Given the description of an element on the screen output the (x, y) to click on. 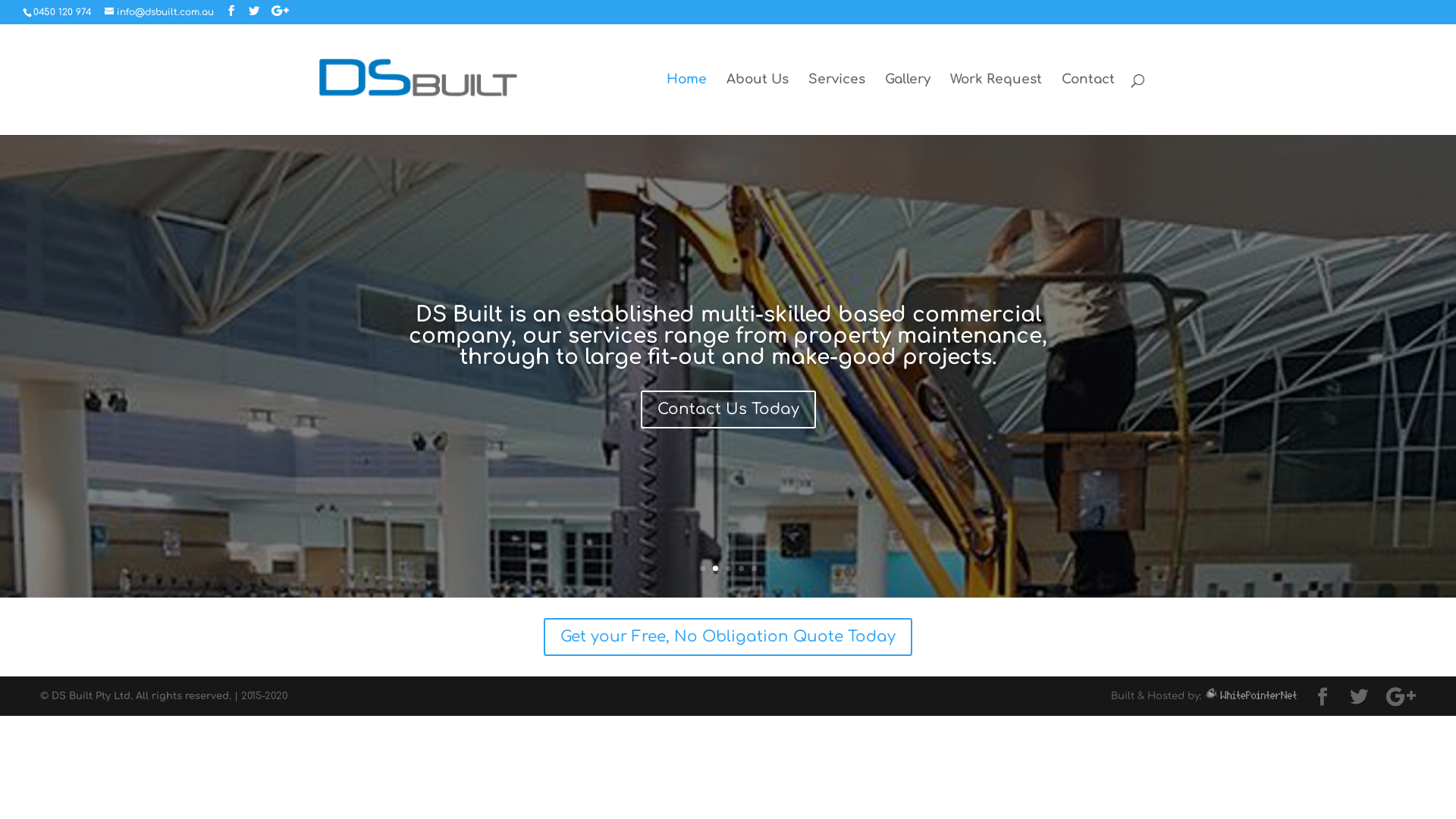
DS Built Pty Ltd. All rights reserved. Element type: text (141, 695)
Work Request Element type: text (995, 104)
Gallery Element type: text (906, 104)
Contact Us Today Element type: text (727, 409)
2 Element type: text (715, 568)
Services Element type: text (836, 104)
Get your Free, No Obligation Quote Today Element type: text (727, 636)
4 Element type: text (740, 568)
3 Element type: text (727, 568)
Home Element type: text (685, 104)
info@dsbuilt.com.au Element type: text (158, 11)
Contact Element type: text (1087, 104)
1 Element type: text (701, 568)
5 Element type: text (753, 568)
About Us Element type: text (757, 104)
